Given the description of an element on the screen output the (x, y) to click on. 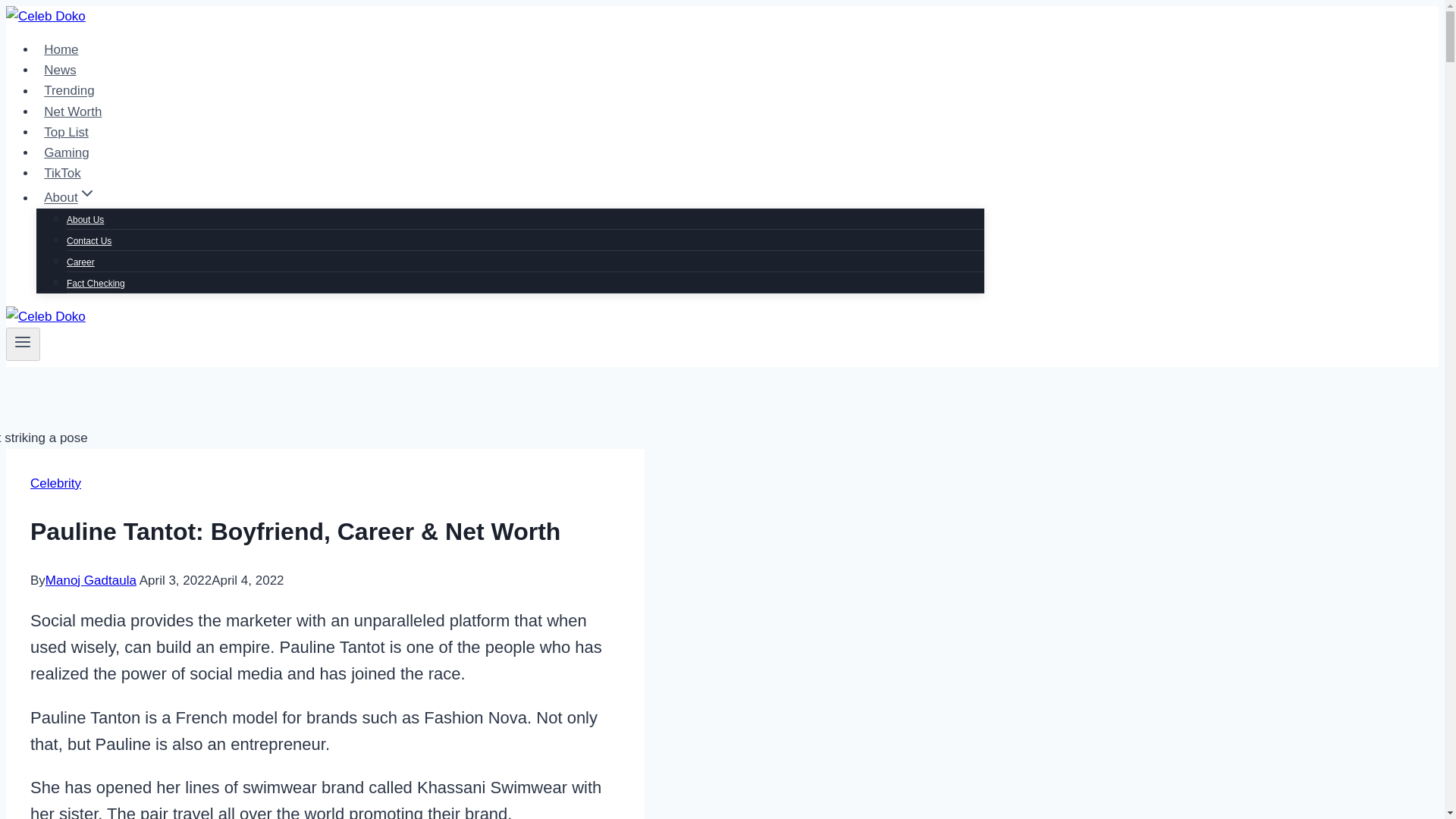
Career (80, 262)
Toggle Menu (22, 341)
Contact Us (89, 240)
Manoj Gadtaula (90, 580)
TikTok (62, 173)
Fact Checking (95, 283)
Top List (66, 132)
Gaming (66, 152)
Expand (87, 192)
